Given the description of an element on the screen output the (x, y) to click on. 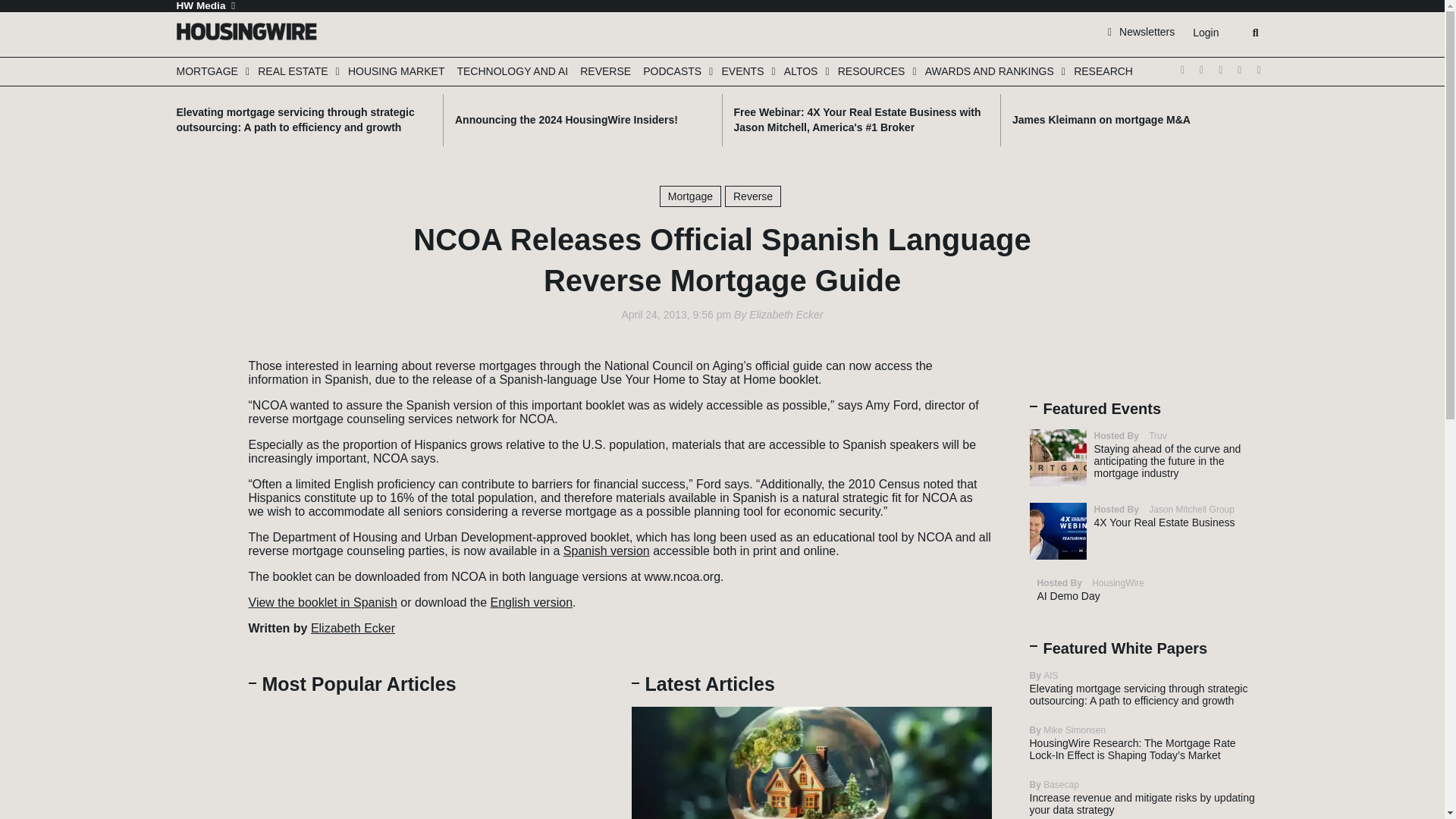
Click to email a link to a friend (203, 429)
Posts by Elizabeth Ecker (785, 314)
Click to copy link (203, 452)
Click to share on LinkedIn (203, 406)
Click to share on Twitter (203, 360)
Newsletters (1141, 31)
Login (1205, 32)
Click to share on Facebook (203, 383)
